Given the description of an element on the screen output the (x, y) to click on. 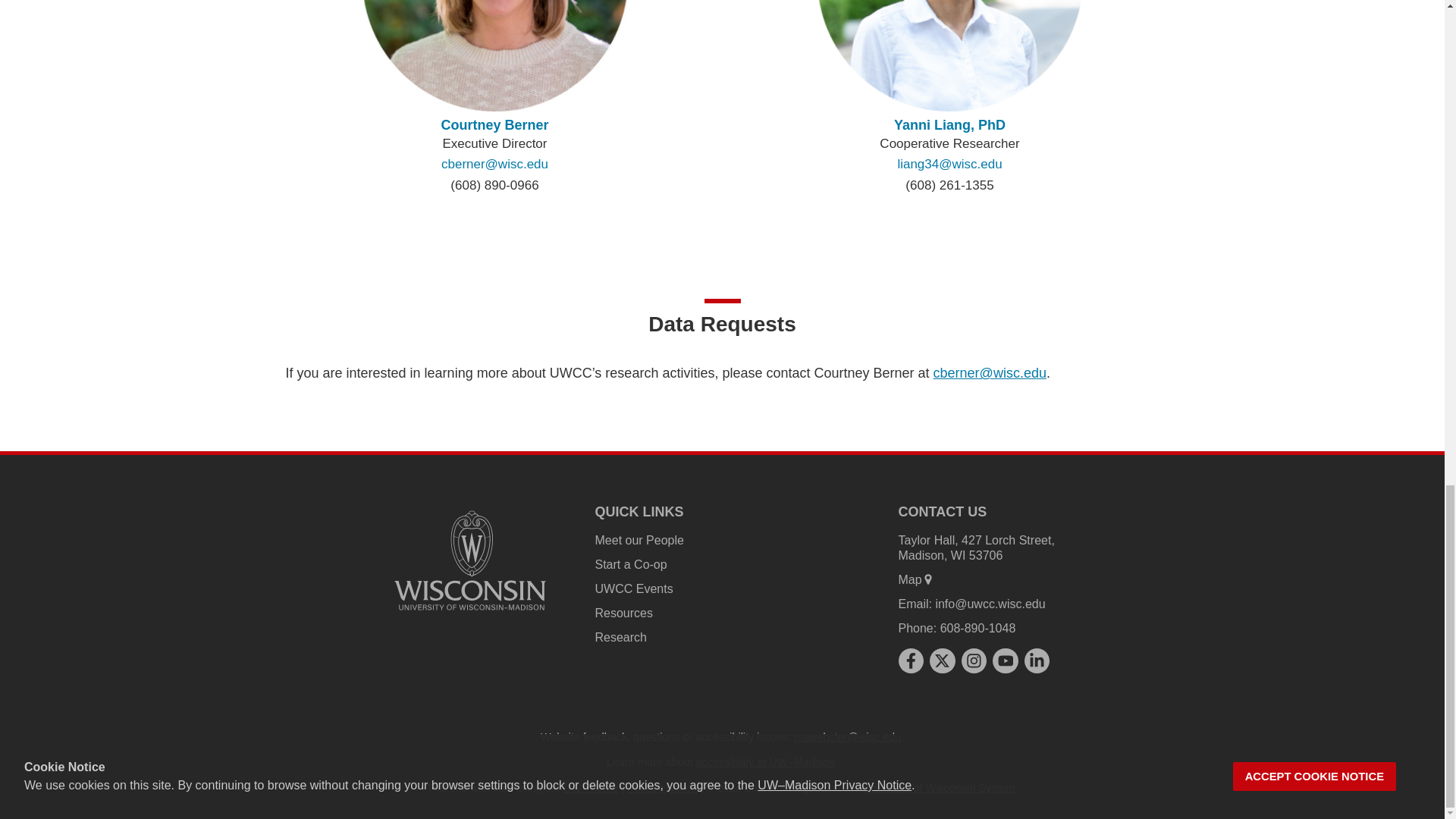
linkedin (1037, 660)
University logo that links to main university website (470, 560)
instagram (973, 660)
map marker (927, 579)
x twitter (941, 660)
youtube (1005, 660)
facebook (910, 660)
